Given the description of an element on the screen output the (x, y) to click on. 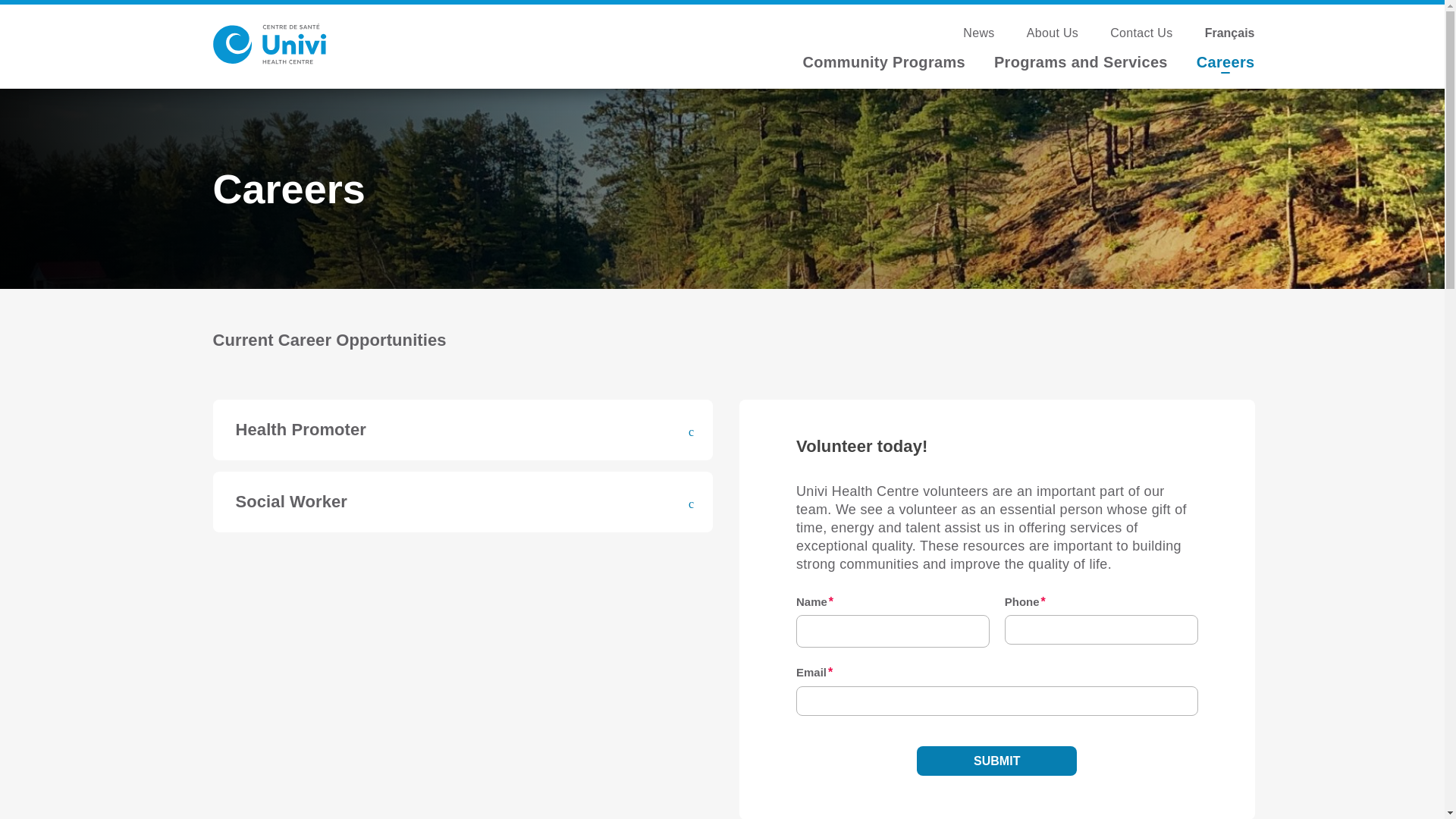
SUBMIT (997, 760)
Social Worker (462, 501)
Programs and Services (1080, 61)
Contact Us (1140, 32)
Community Programs (883, 61)
News (978, 32)
Health Promoter (462, 429)
Careers (1225, 61)
About Us (1052, 32)
